Given the description of an element on the screen output the (x, y) to click on. 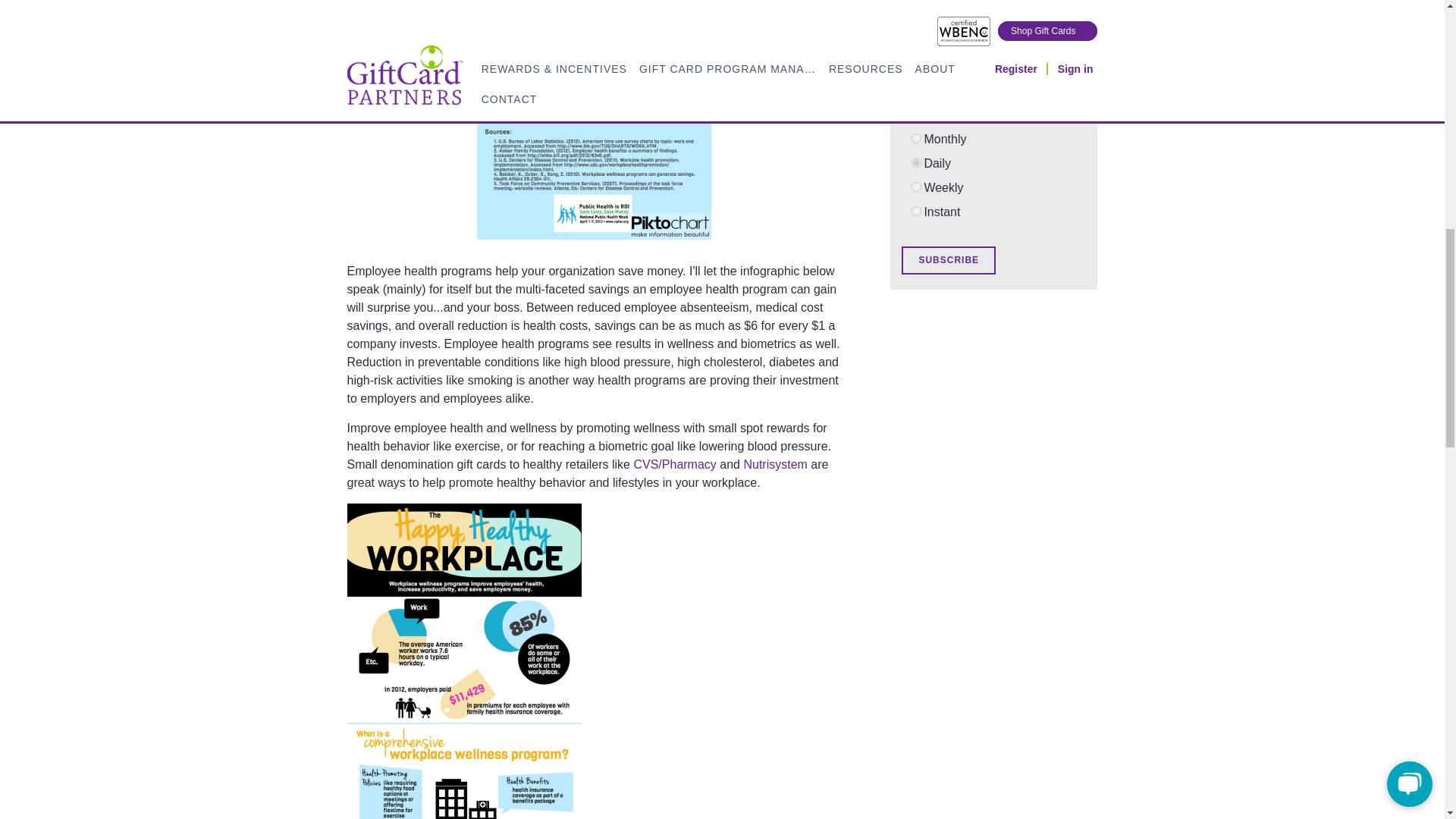
instant (916, 211)
monthly (916, 138)
weekly (916, 186)
Subscribe (948, 260)
daily (916, 162)
